Given the description of an element on the screen output the (x, y) to click on. 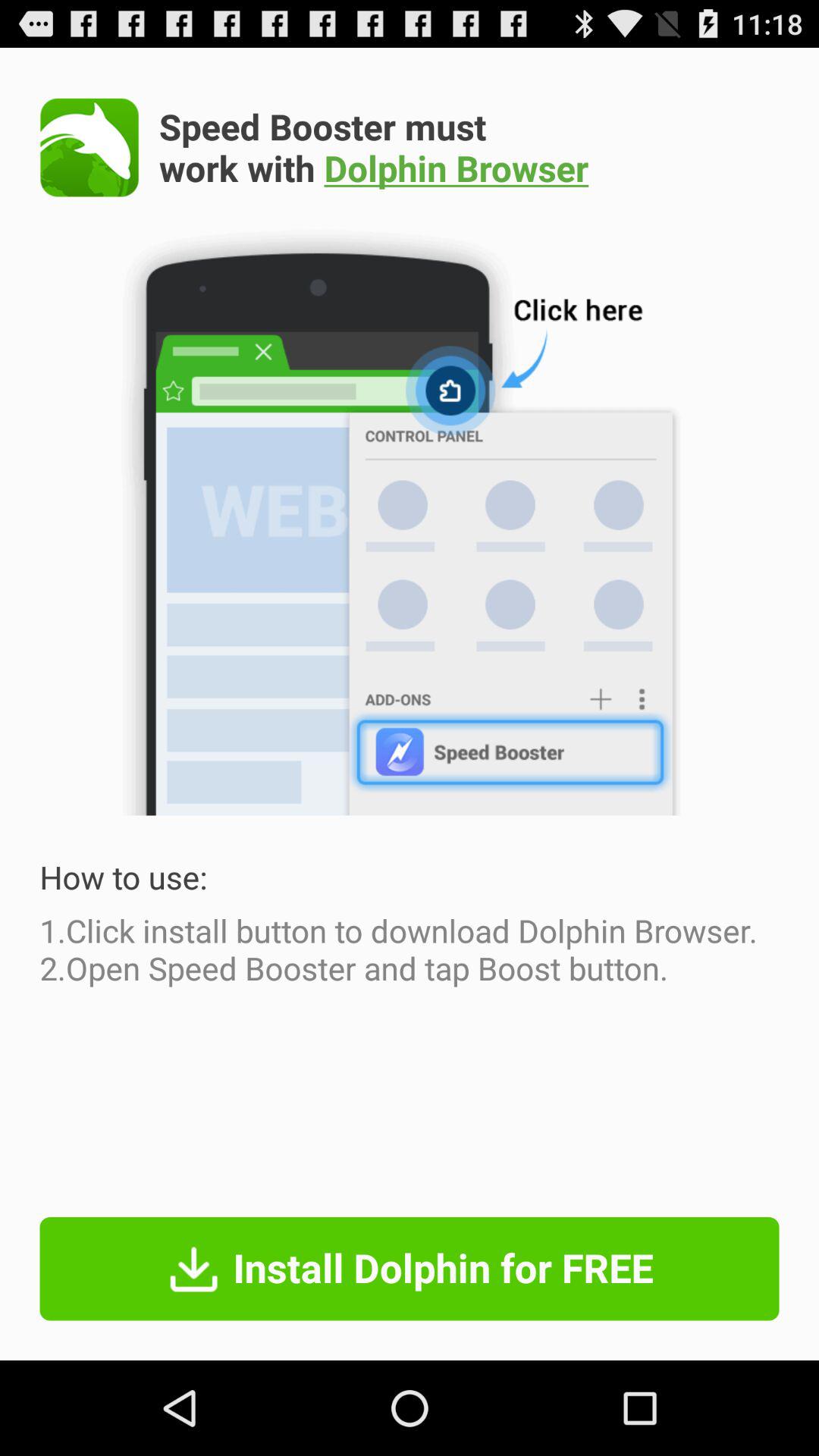
see information about dolphin browser (89, 147)
